Given the description of an element on the screen output the (x, y) to click on. 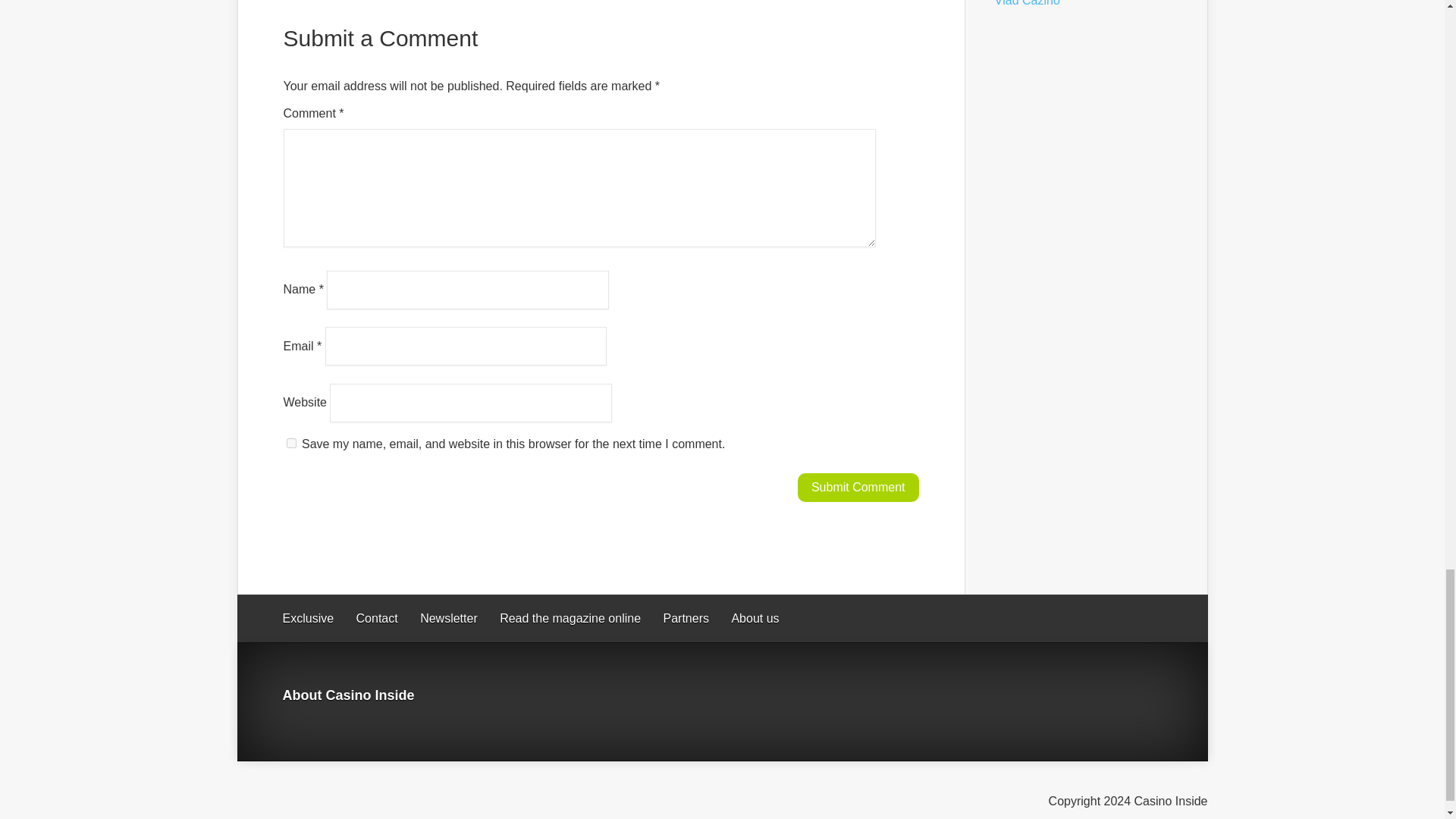
Submit Comment (857, 487)
yes (291, 442)
Submit Comment (857, 487)
